Given the description of an element on the screen output the (x, y) to click on. 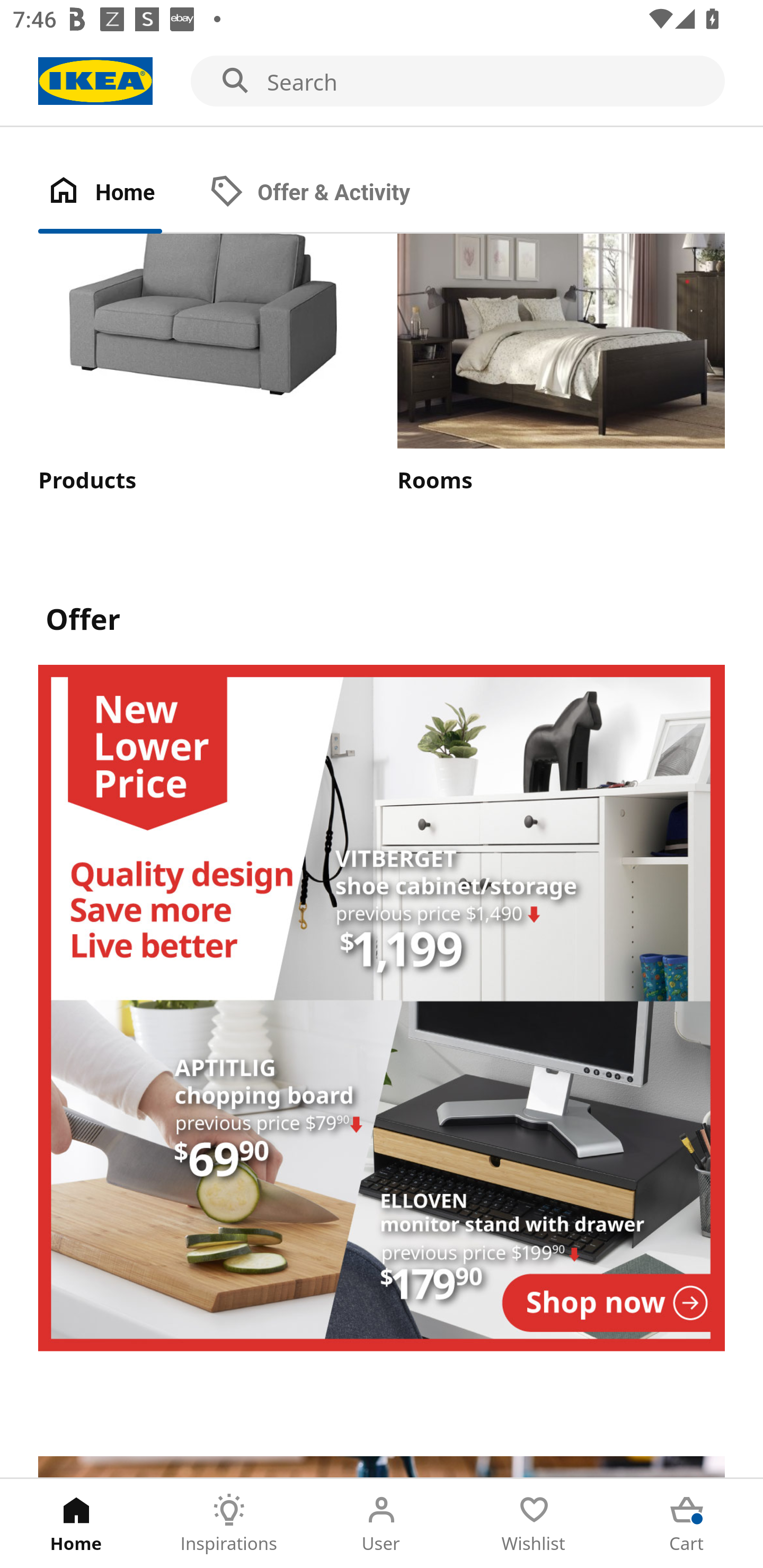
Search (381, 81)
Home
Tab 1 of 2 (118, 192)
Offer & Activity
Tab 2 of 2 (327, 192)
Products (201, 365)
Rooms (560, 365)
Home
Tab 1 of 5 (76, 1522)
Inspirations
Tab 2 of 5 (228, 1522)
User
Tab 3 of 5 (381, 1522)
Wishlist
Tab 4 of 5 (533, 1522)
Cart
Tab 5 of 5 (686, 1522)
